Given the description of an element on the screen output the (x, y) to click on. 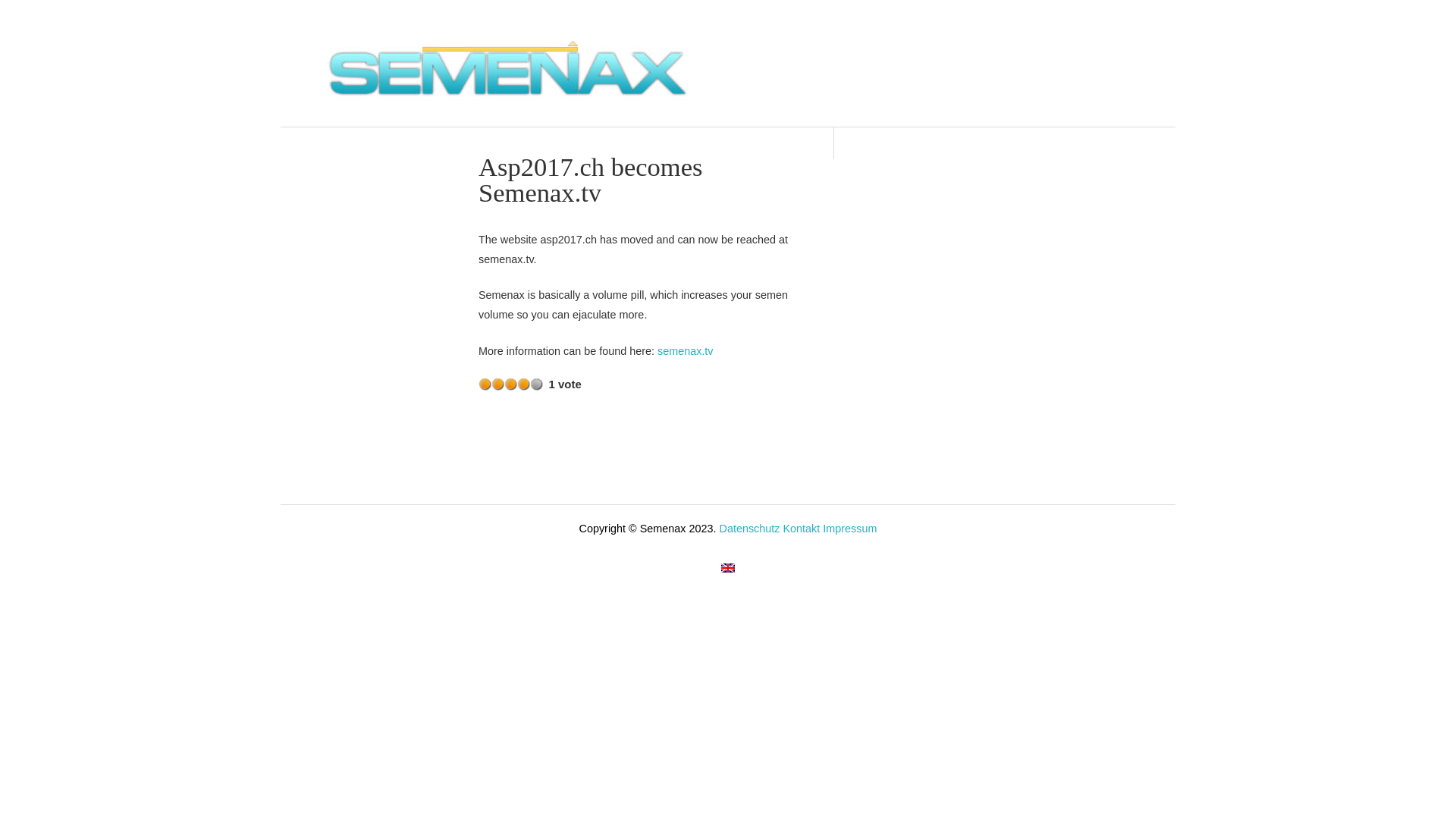
semenax.tv Element type: text (685, 351)
Semenax Element type: hover (507, 109)
Impressum Element type: text (849, 528)
Datenschutz Element type: text (748, 528)
Kontakt Element type: text (800, 528)
